Given the description of an element on the screen output the (x, y) to click on. 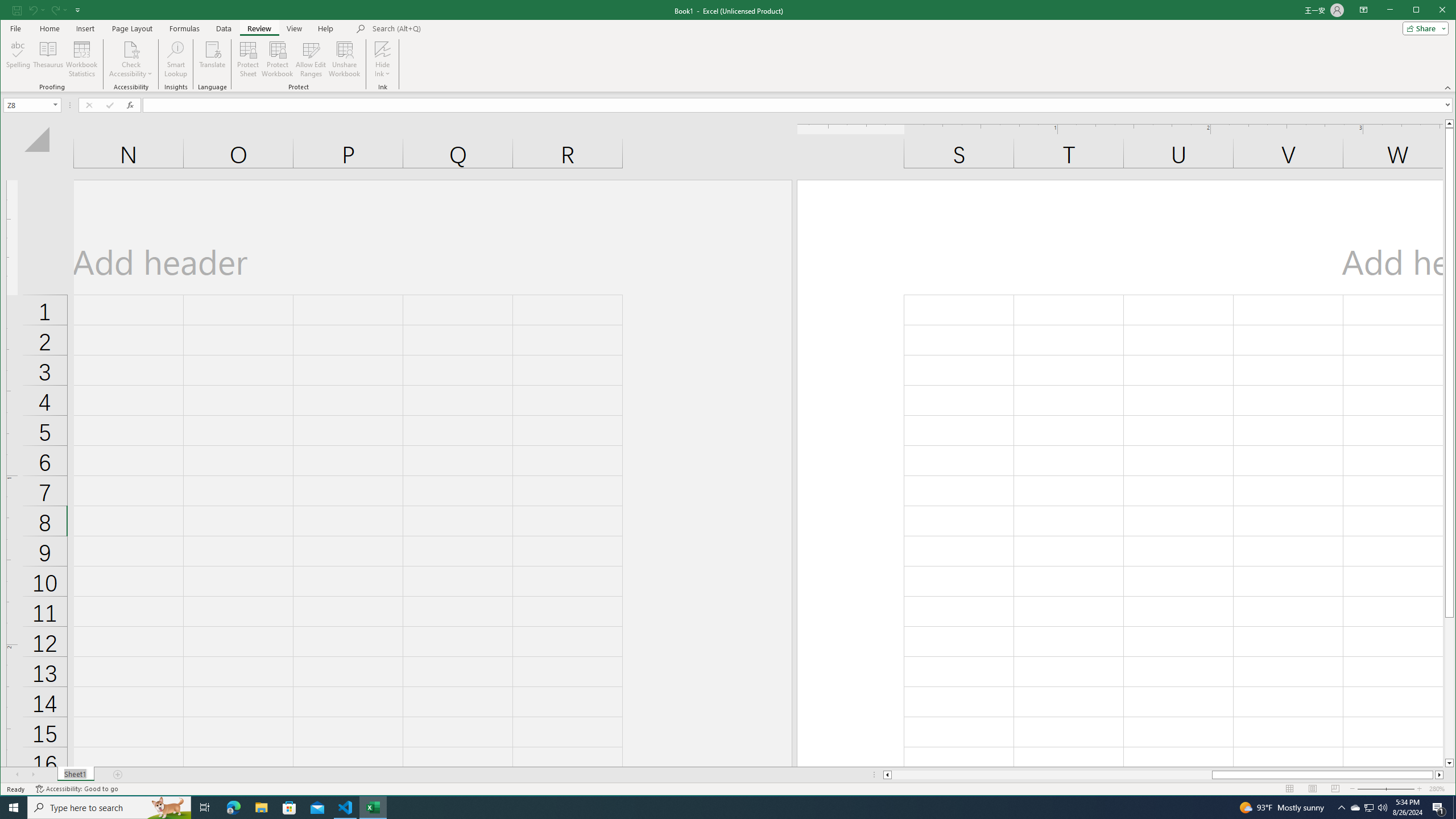
System (10, 10)
Page Layout (1312, 788)
Action Center, 1 new notification (1439, 807)
Sheet1 (75, 774)
Page Layout (132, 28)
Visual Studio Code - 1 running window (345, 807)
Share (1422, 27)
Quick Access Toolbar (46, 9)
Zoom In (1419, 788)
User Promoted Notification Area (1368, 807)
Customize Quick Access Toolbar (77, 9)
File Tab (15, 27)
Review (259, 28)
Name Box (32, 105)
